Given the description of an element on the screen output the (x, y) to click on. 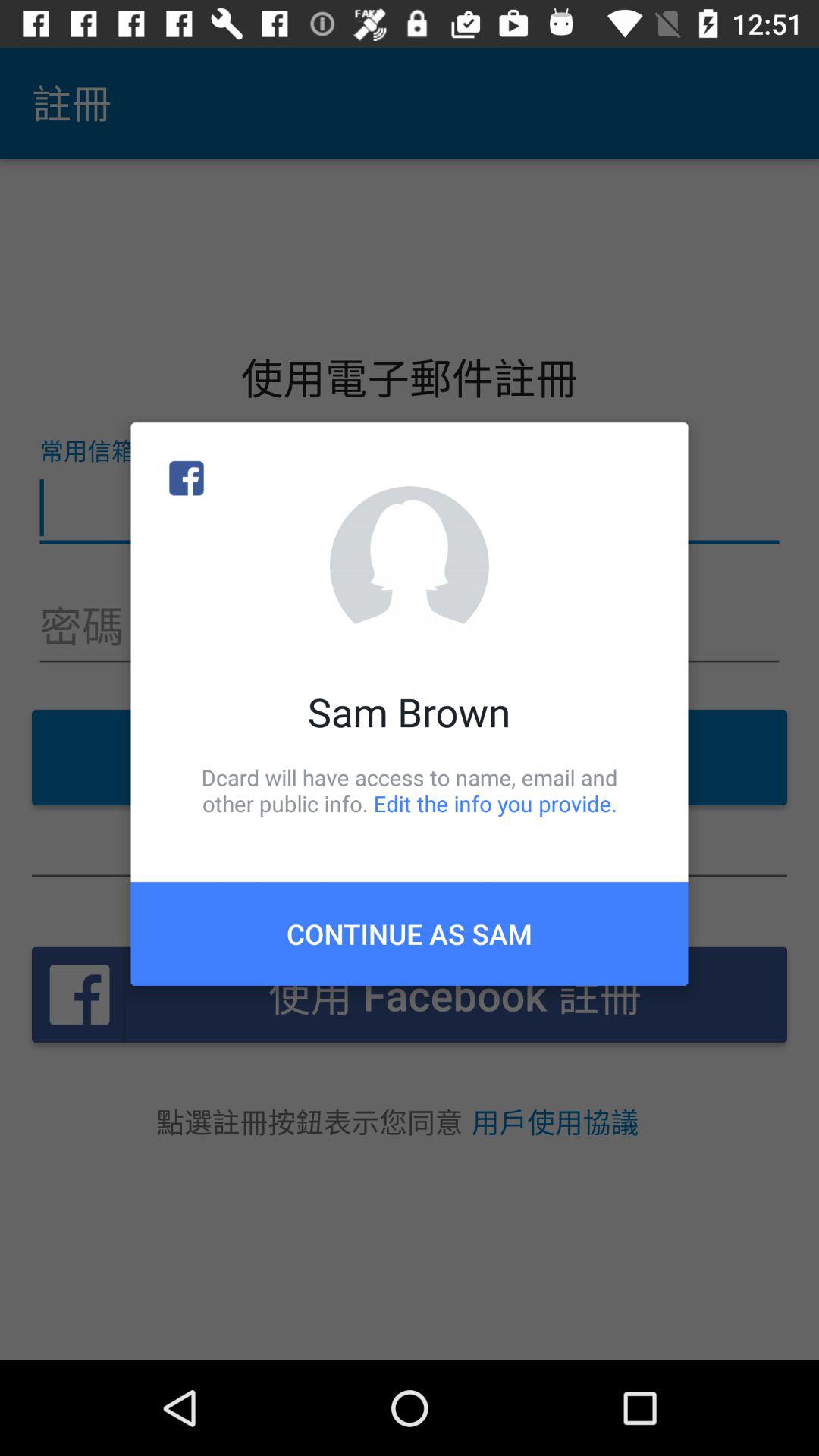
choose item below the dcard will have item (409, 933)
